Given the description of an element on the screen output the (x, y) to click on. 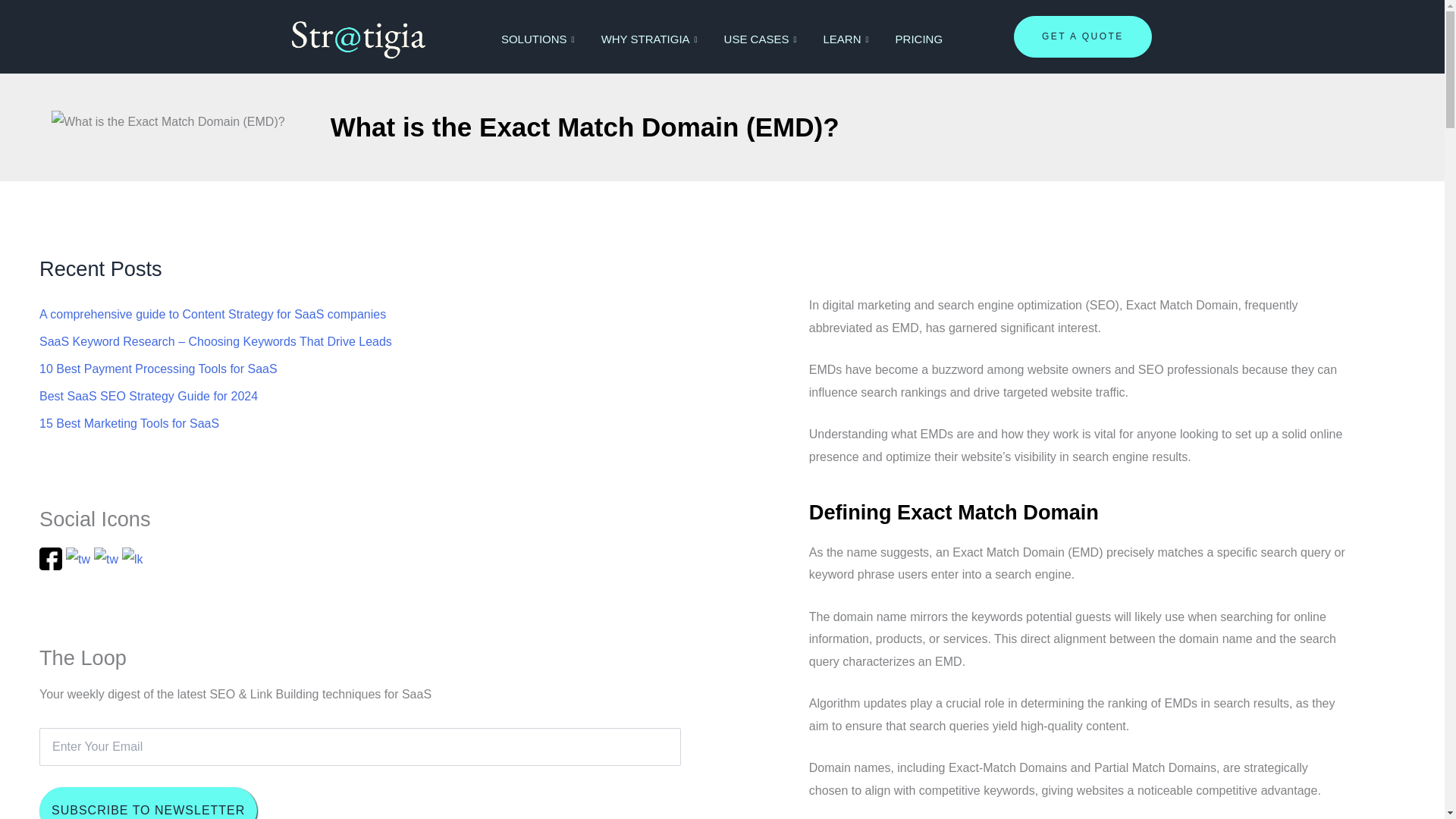
SOLUTIONS (539, 39)
WHY STRATIGIA (651, 39)
